Given the description of an element on the screen output the (x, y) to click on. 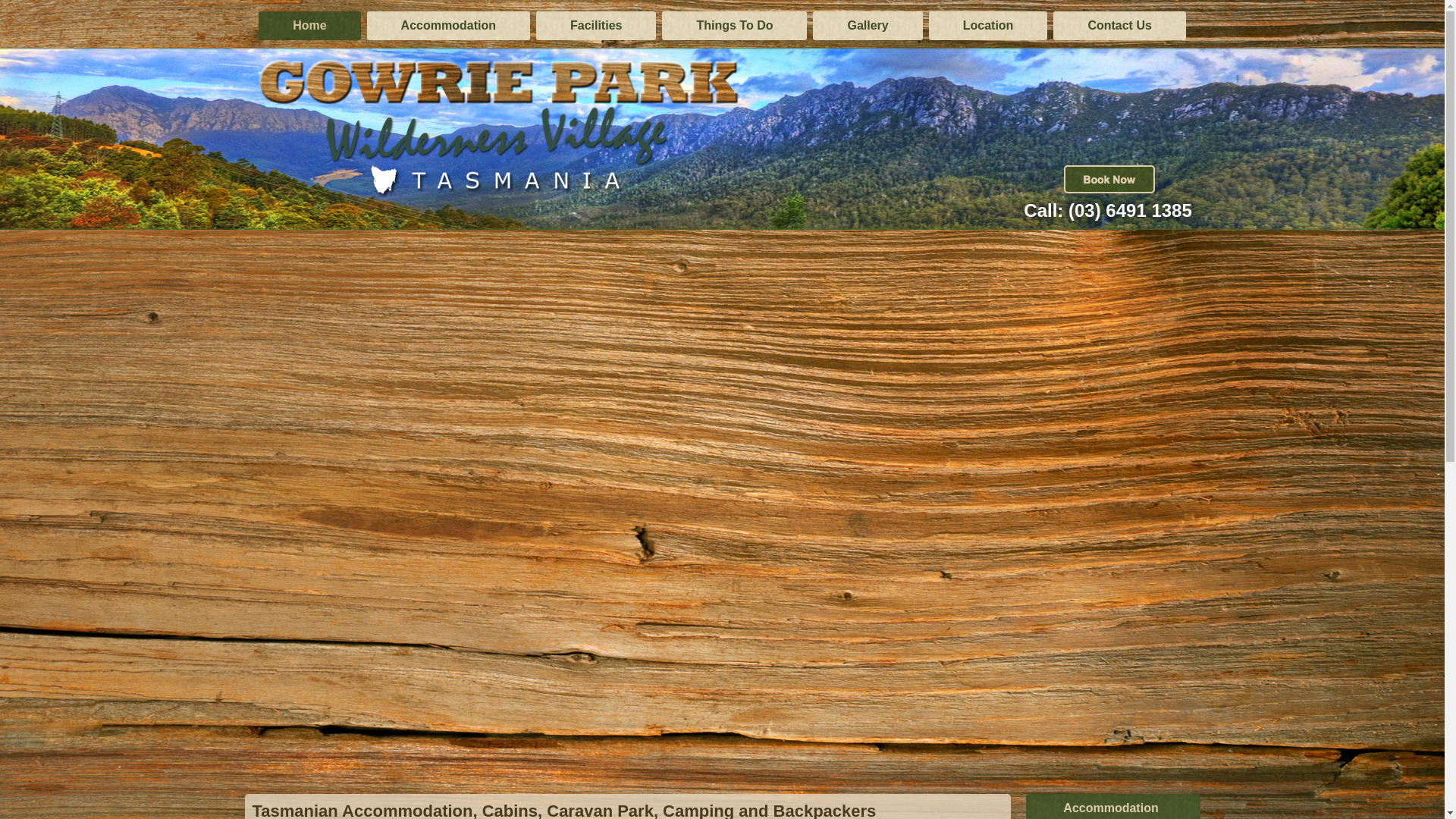
Home Element type: text (309, 25)
Gowrie Park Wilderness Village Element type: hover (498, 124)
Book Now Element type: hover (1108, 179)
Location Element type: text (988, 25)
Accommodation Element type: text (448, 25)
Call: (03) 6491 1385 Element type: text (1107, 210)
Contact Us Element type: text (1119, 25)
Things To Do Element type: text (734, 25)
Gallery Element type: text (867, 25)
Facilities Element type: text (595, 25)
